Given the description of an element on the screen output the (x, y) to click on. 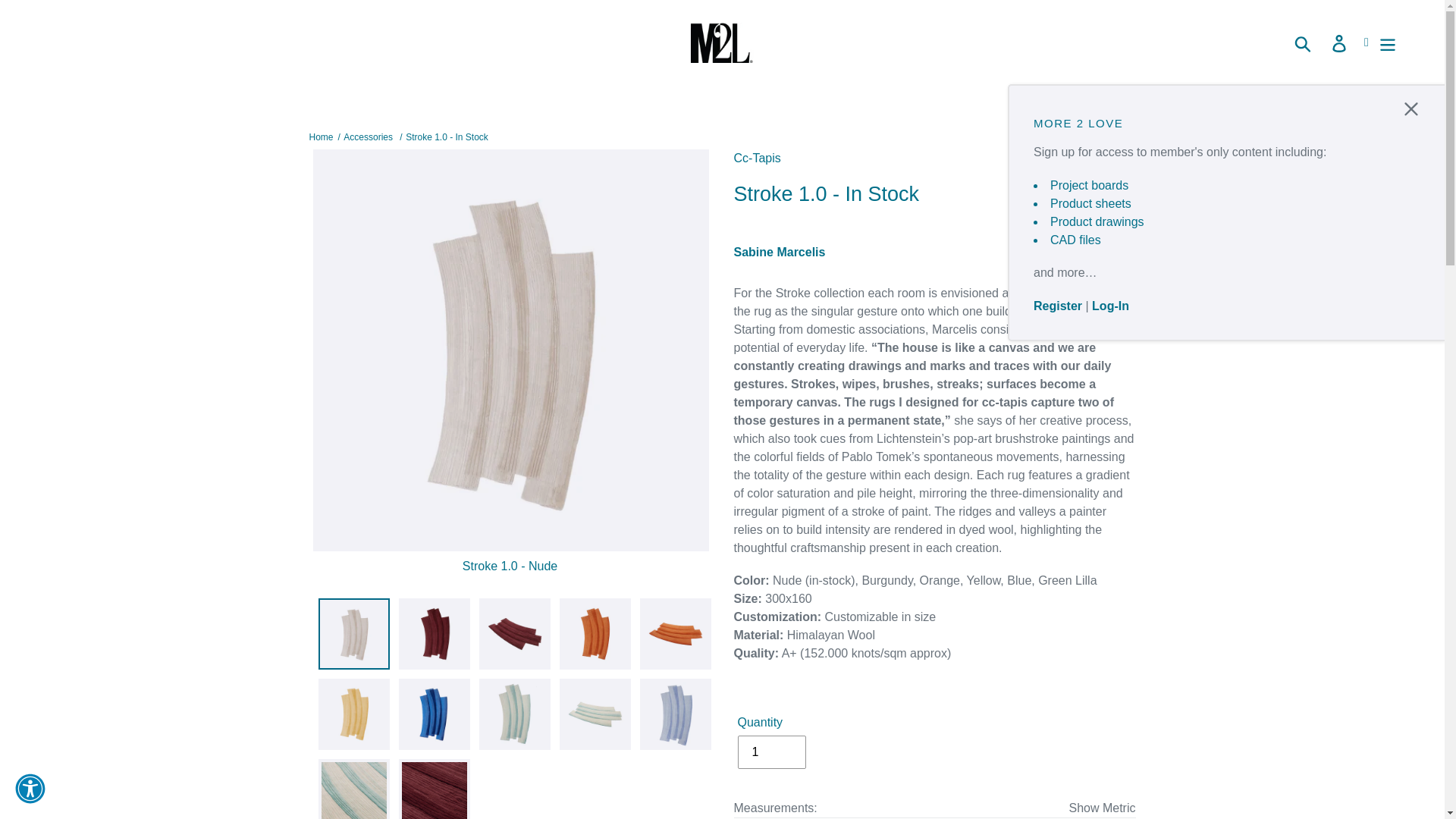
Log in (1340, 41)
Submit (1303, 41)
1 (770, 752)
